Given the description of an element on the screen output the (x, y) to click on. 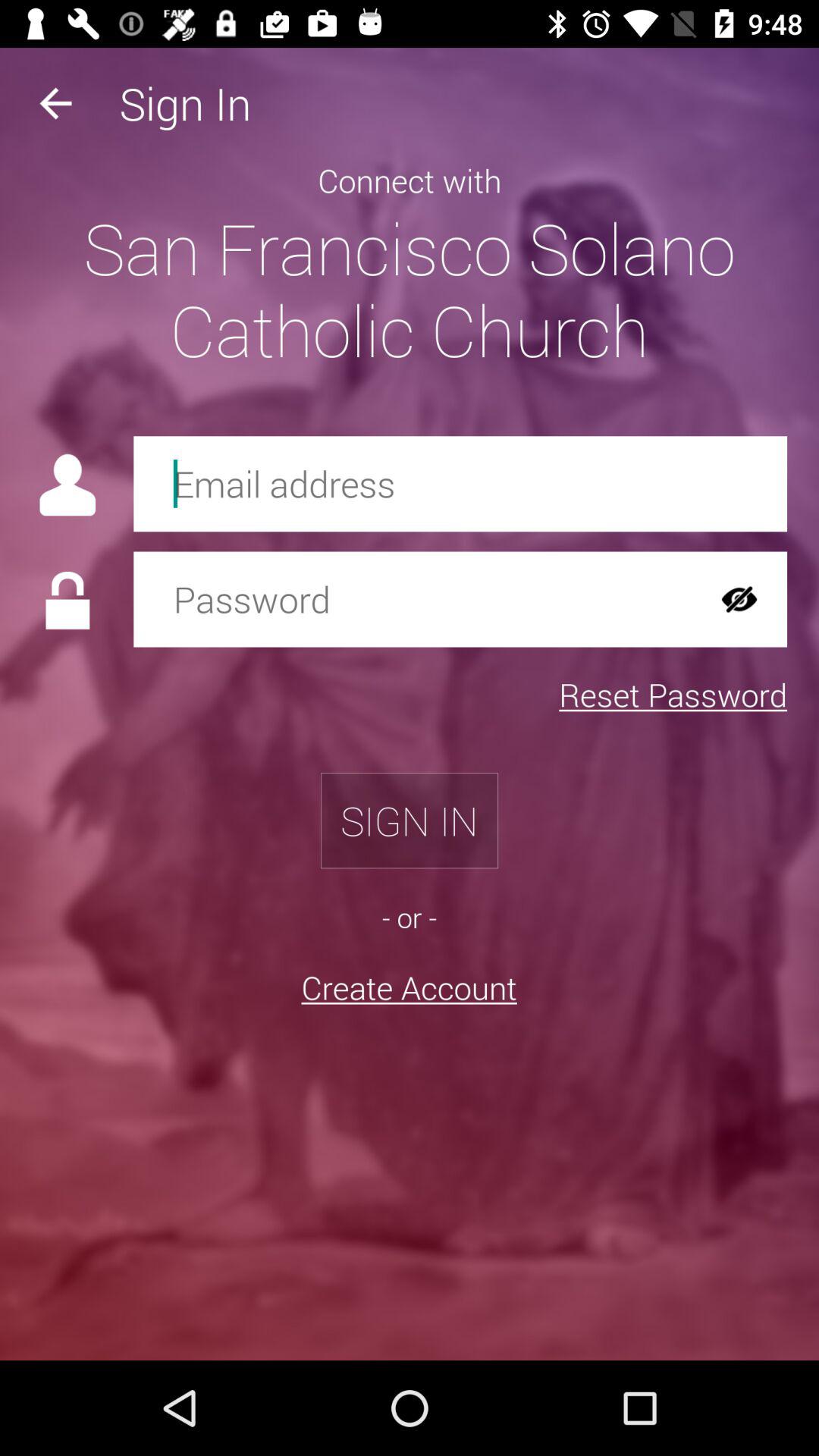
password field (412, 599)
